Given the description of an element on the screen output the (x, y) to click on. 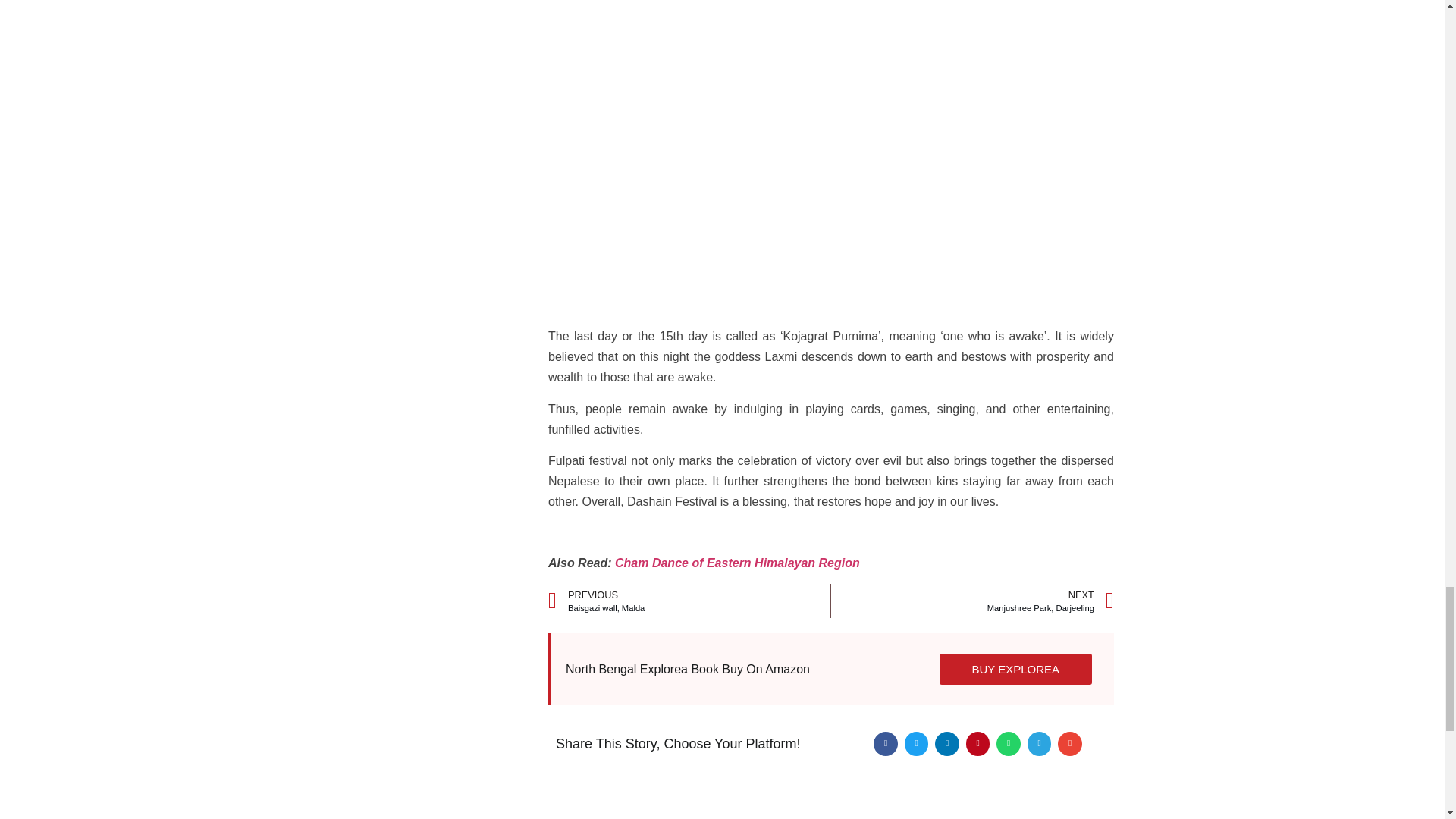
Cham Dance of Eastern Himalayan Region (688, 600)
BUY EXPLOREA (737, 562)
